Given the description of an element on the screen output the (x, y) to click on. 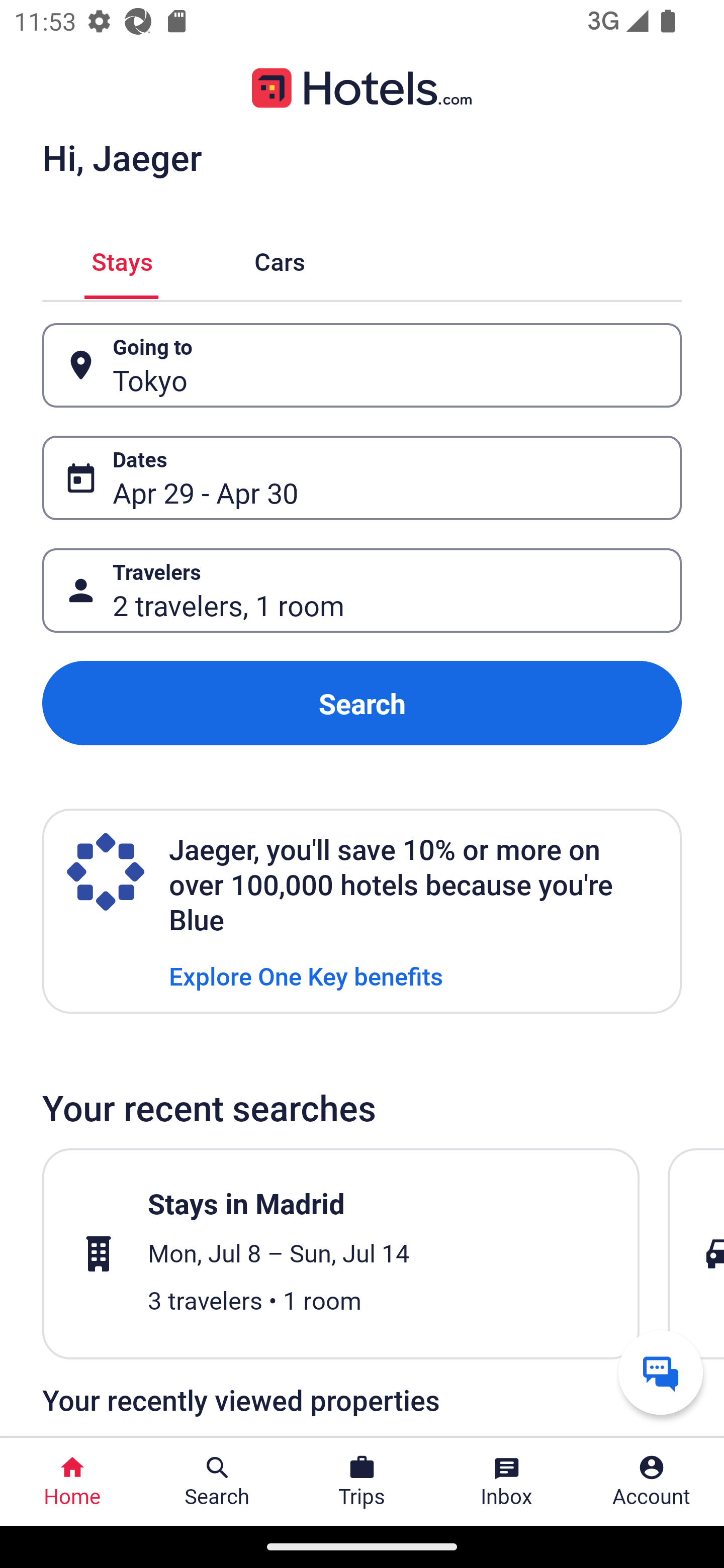
Hi, Jaeger (121, 156)
Cars (279, 259)
Going to Button Tokyo (361, 365)
Dates Button Apr 29 - Apr 30 (361, 477)
Travelers Button 2 travelers, 1 room (361, 590)
Search (361, 702)
Get help from a virtual agent (660, 1371)
Search Search Button (216, 1481)
Trips Trips Button (361, 1481)
Inbox Inbox Button (506, 1481)
Account Profile. Button (651, 1481)
